Given the description of an element on the screen output the (x, y) to click on. 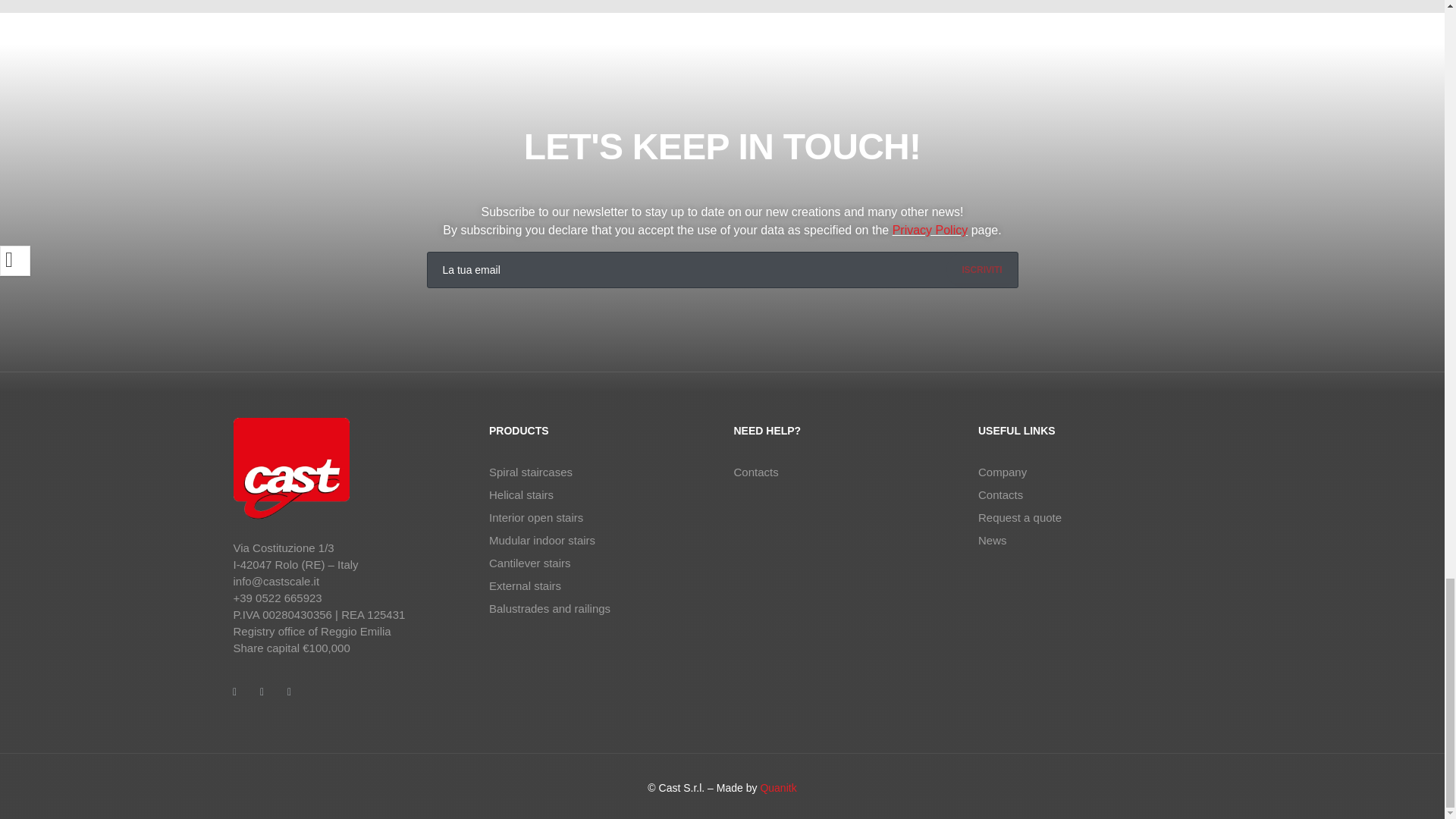
instagram (267, 697)
youtube (293, 697)
facebook (239, 697)
